Given the description of an element on the screen output the (x, y) to click on. 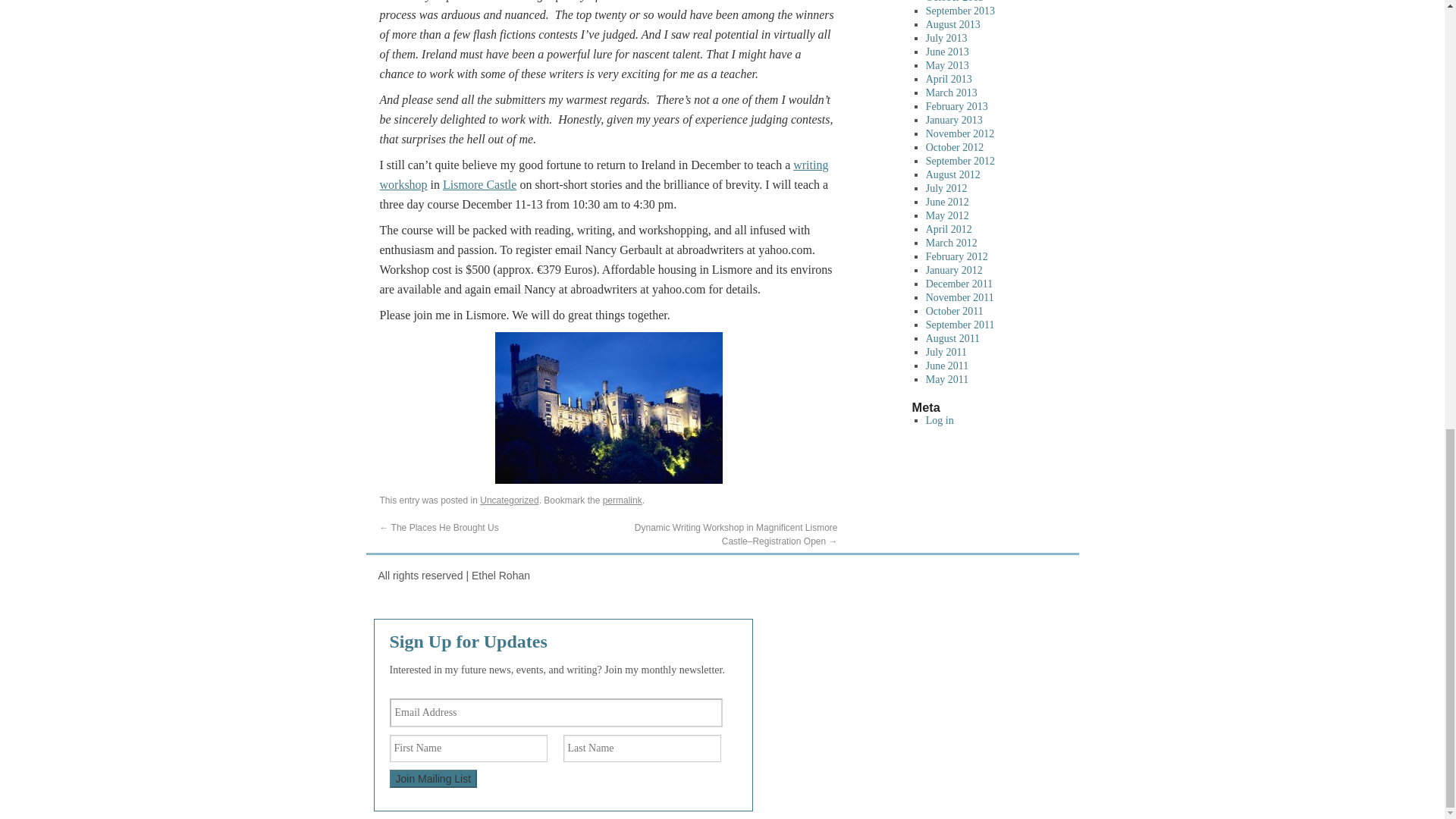
Lismore-Castle (609, 407)
Join Mailing List (433, 778)
Lismore Castle (479, 184)
Ethel Rohan (453, 575)
permalink (622, 500)
writing workshop (603, 174)
Uncategorized (509, 500)
